Given the description of an element on the screen output the (x, y) to click on. 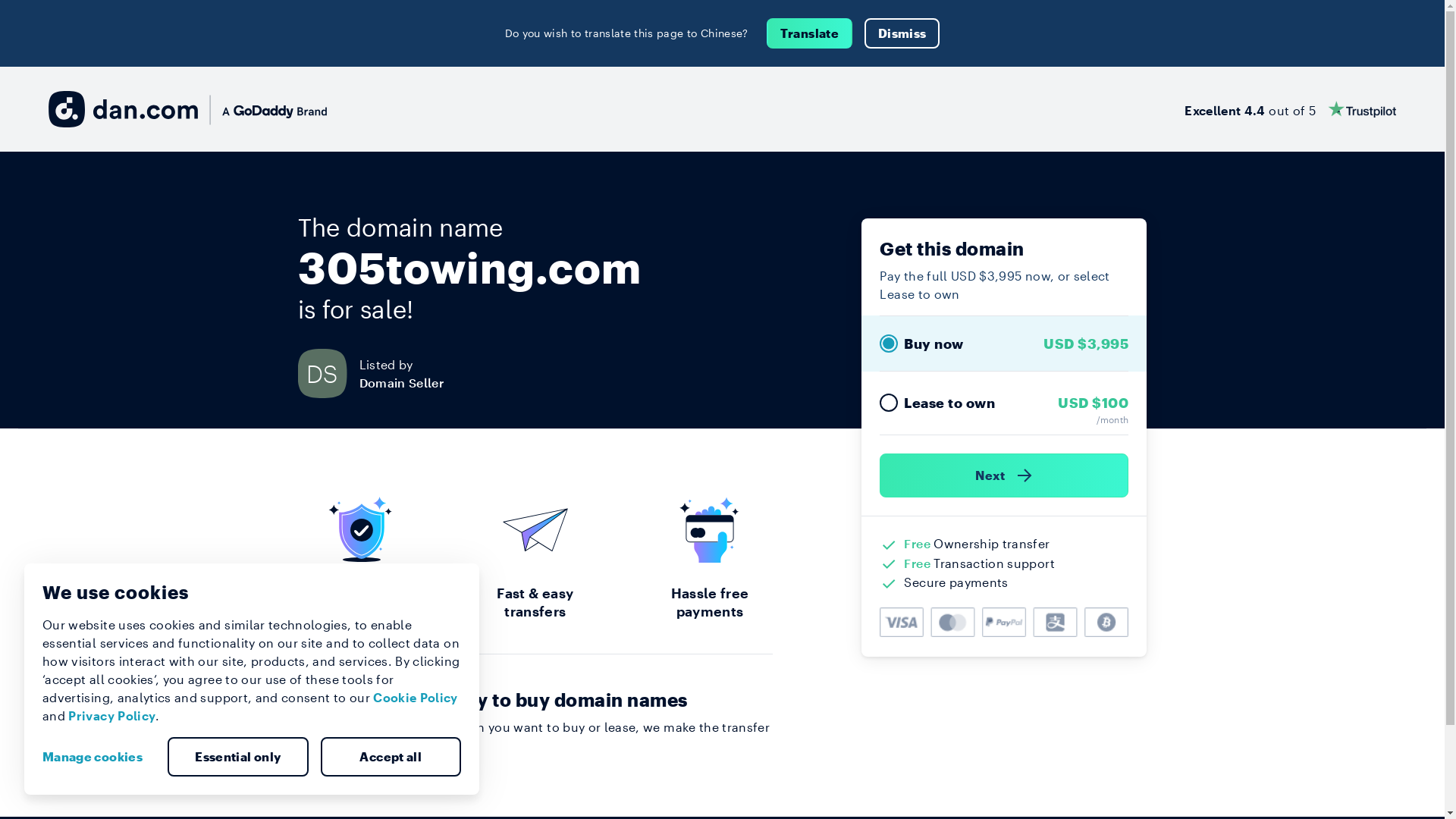
Translate Element type: text (809, 33)
Cookie Policy Element type: text (415, 697)
Privacy Policy Element type: text (111, 715)
Dismiss Element type: text (901, 33)
Accept all Element type: text (390, 756)
Manage cookies Element type: text (98, 756)
Excellent 4.4 out of 5 Element type: text (1290, 109)
Next
) Element type: text (1003, 475)
Essential only Element type: text (237, 756)
